Given the description of an element on the screen output the (x, y) to click on. 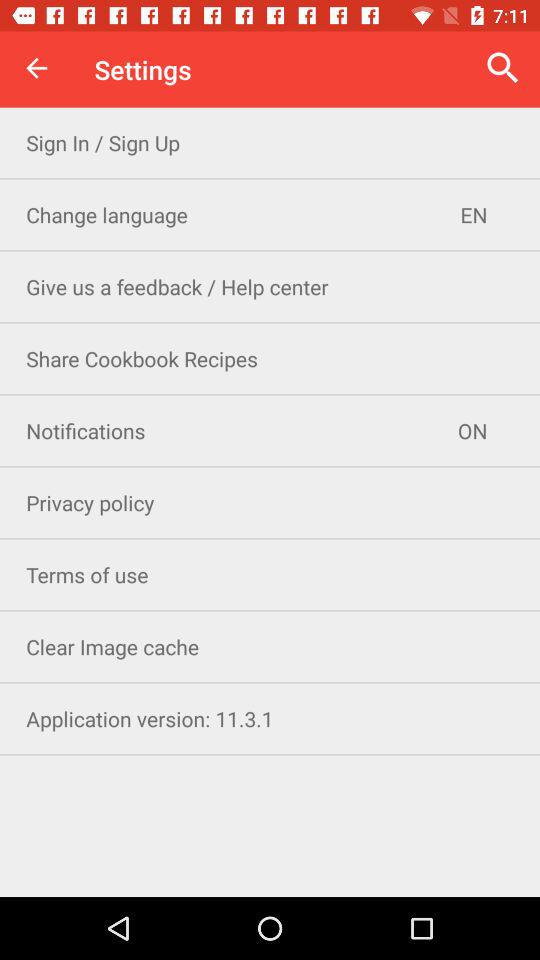
select the application version 11 item (270, 718)
